Given the description of an element on the screen output the (x, y) to click on. 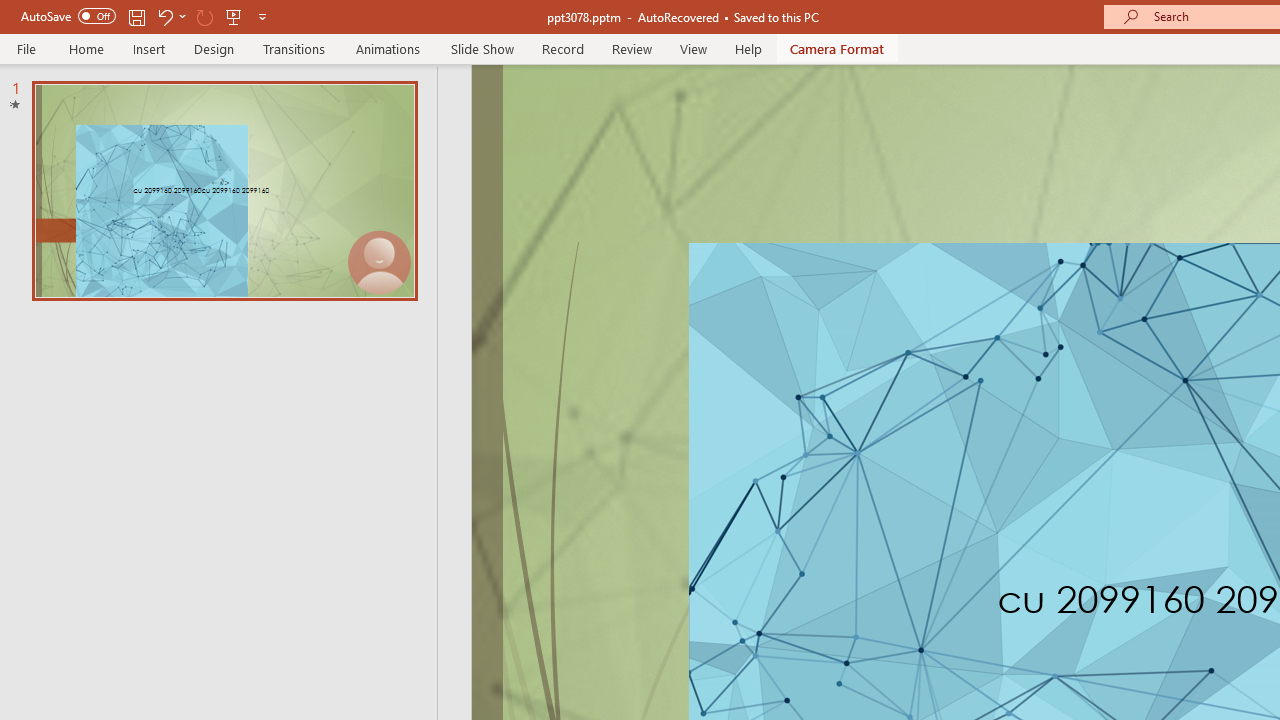
Camera Format (836, 48)
